Given the description of an element on the screen output the (x, y) to click on. 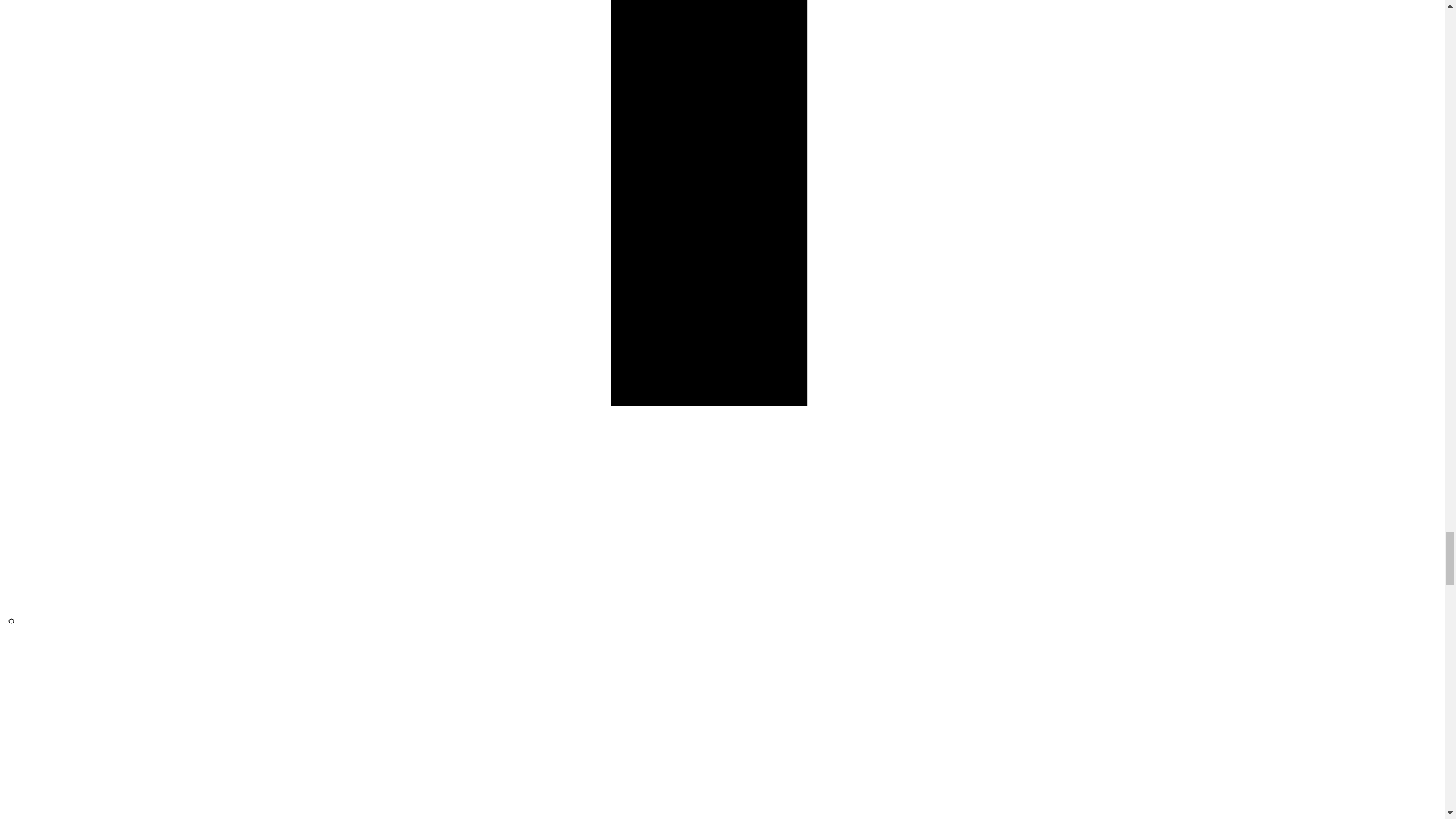
Facebook (733, 619)
